Given the description of an element on the screen output the (x, y) to click on. 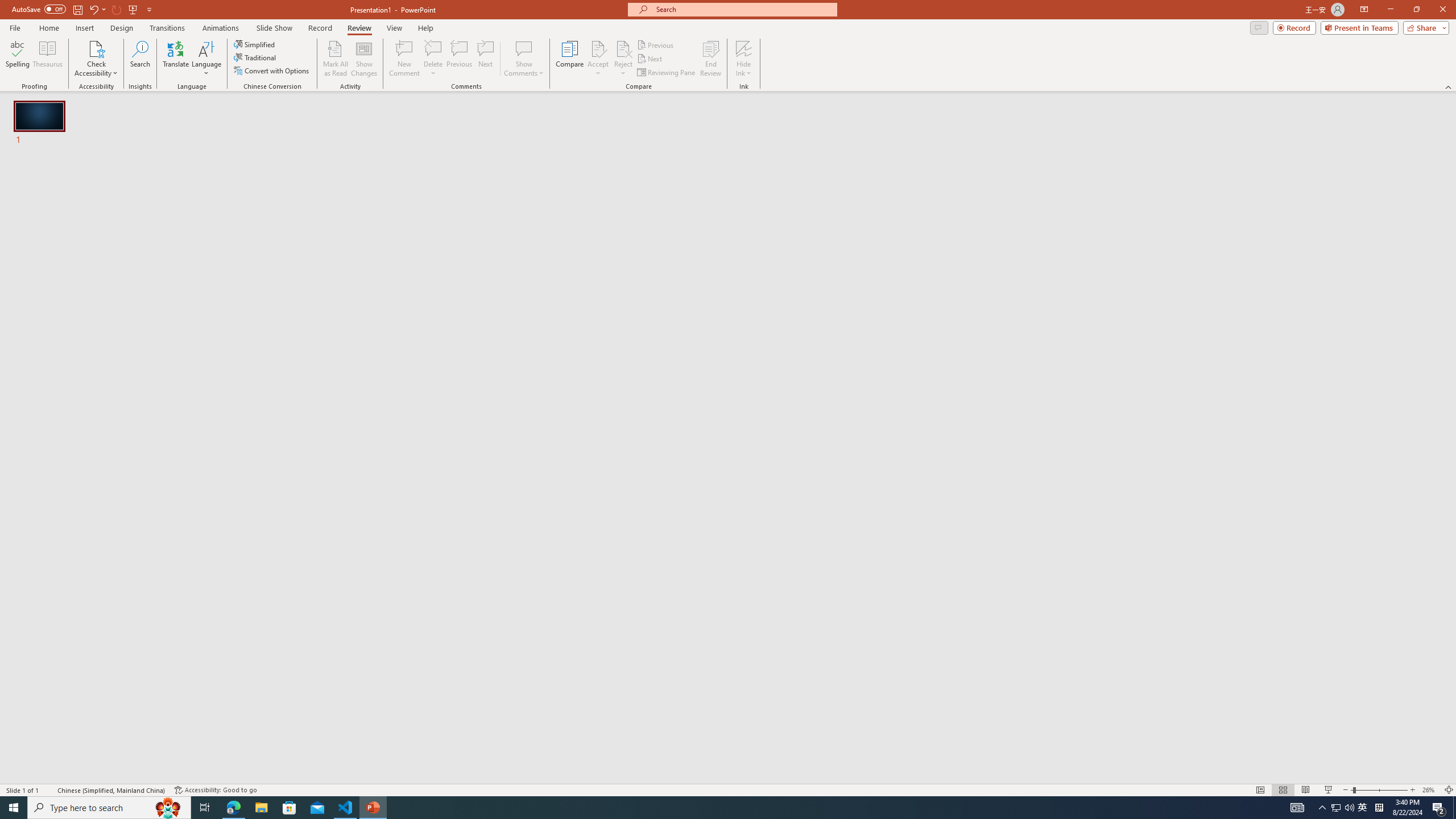
Reviewing Pane (666, 72)
